Given the description of an element on the screen output the (x, y) to click on. 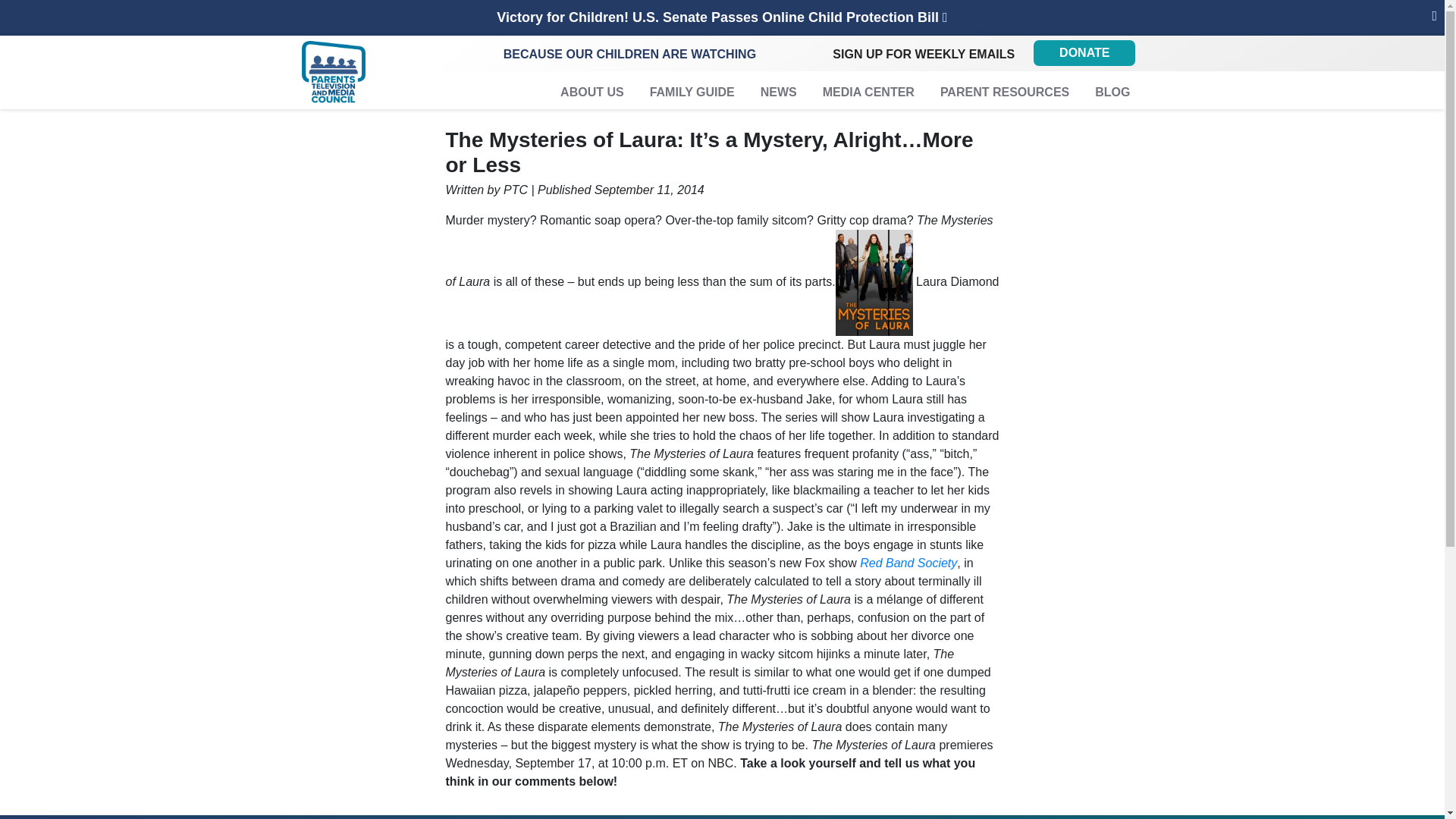
DONATE (1084, 53)
ABOUT US (592, 94)
NEWS (778, 94)
MEDIA CENTER (868, 94)
Red Band Society (907, 562)
PARENT RESOURCES (1005, 94)
BLOG (1112, 94)
SIGN UP FOR WEEKLY EMAILS (923, 54)
FAMILY GUIDE (692, 94)
